Given the description of an element on the screen output the (x, y) to click on. 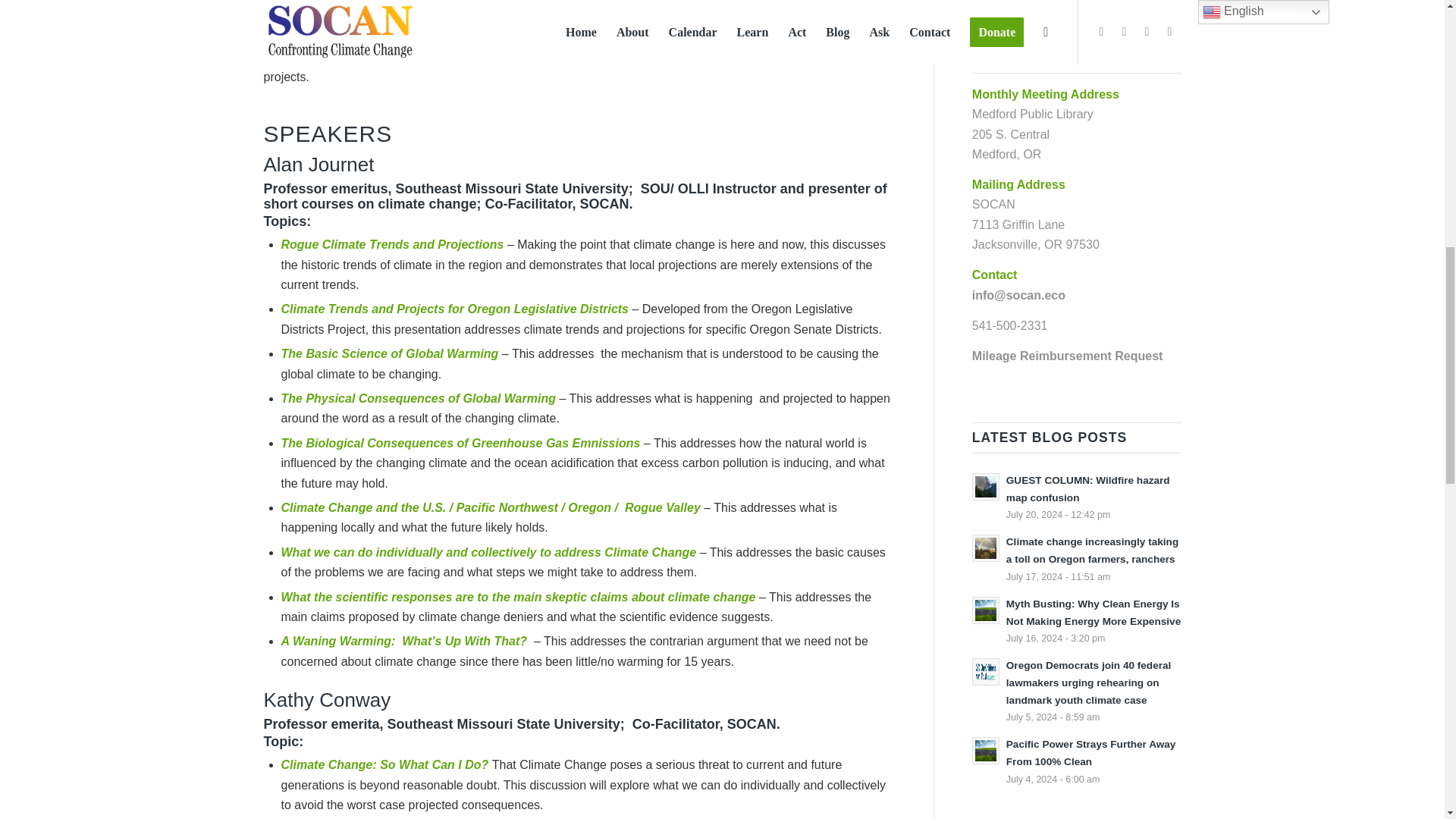
Read: GUEST COLUMN: Wildfire hazard map confusion (985, 486)
Read: GUEST COLUMN: Wildfire hazard map confusion (1088, 489)
